Given the description of an element on the screen output the (x, y) to click on. 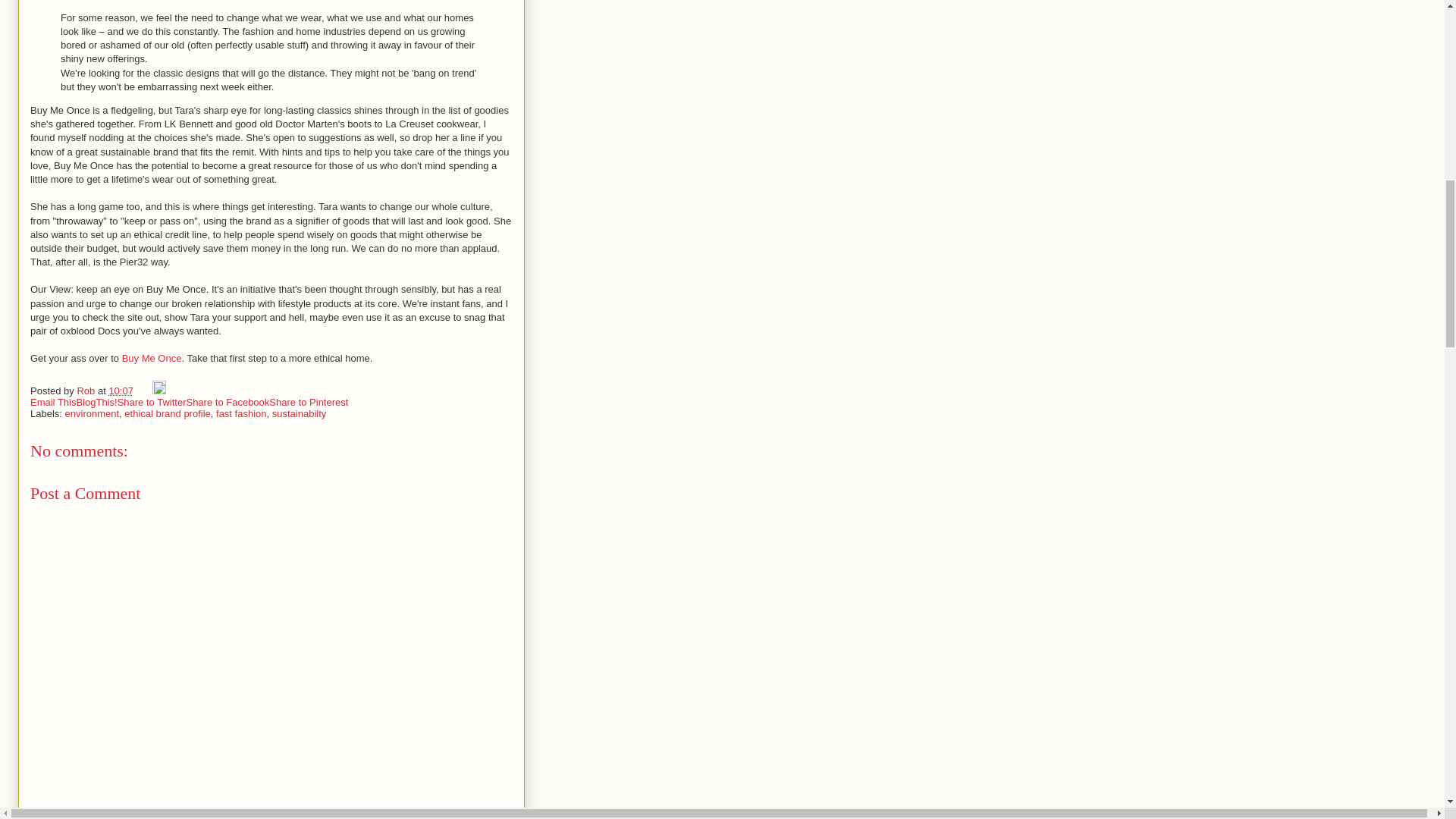
Share to Pinterest (308, 401)
permanent link (120, 390)
10:07 (120, 390)
Share to Facebook (227, 401)
Buy Me Once (152, 357)
BlogThis! (95, 401)
Edit Post (158, 390)
Email This (52, 401)
BlogThis! (95, 401)
Share to Twitter (151, 401)
